Given the description of an element on the screen output the (x, y) to click on. 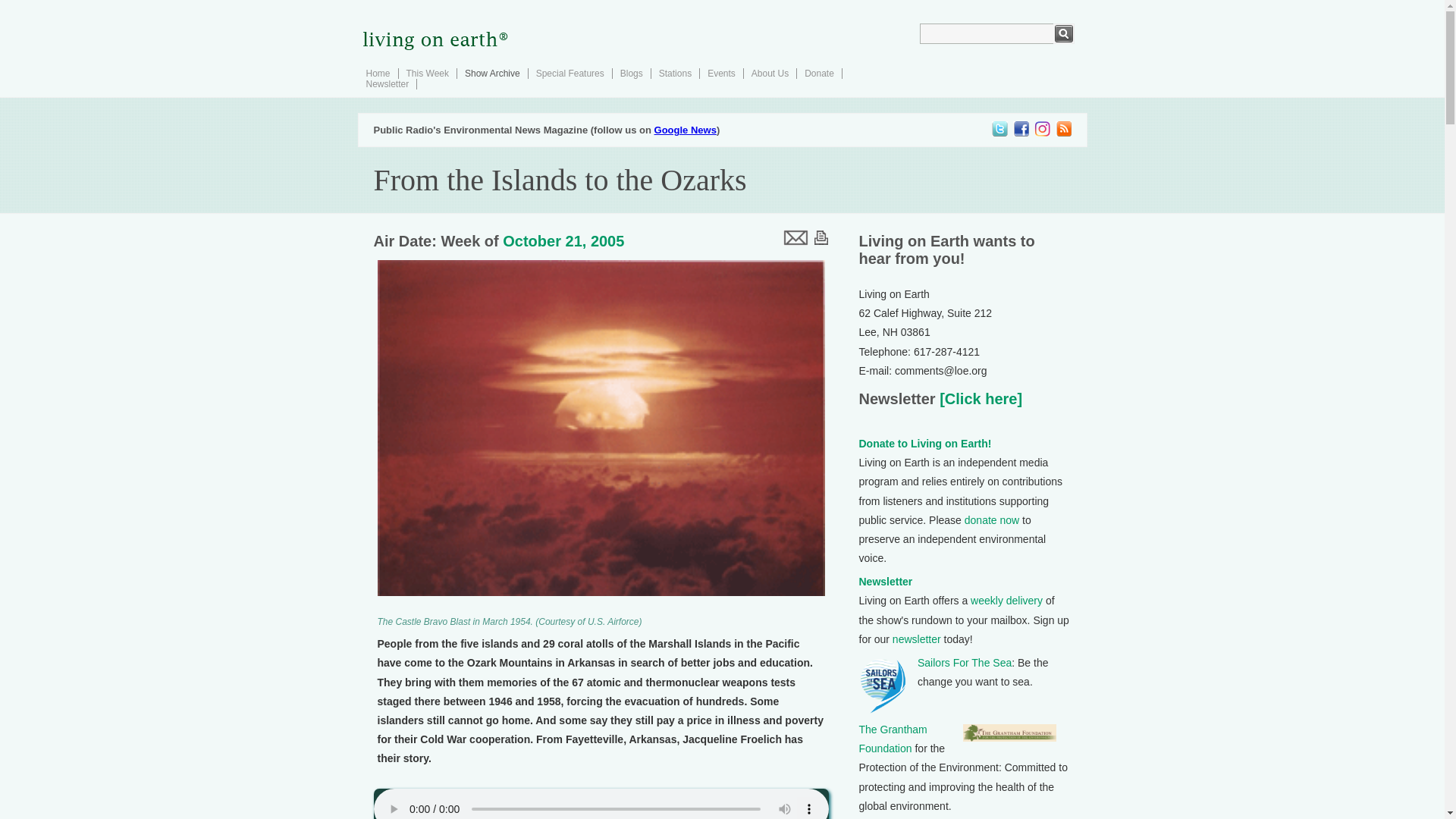
Show Archive (491, 72)
Google News (684, 129)
email (794, 236)
Stations (675, 72)
newsletter (916, 639)
Donate (819, 72)
About Us (770, 72)
print (819, 236)
Blogs (631, 72)
Sailors For The Sea (964, 662)
